Given the description of an element on the screen output the (x, y) to click on. 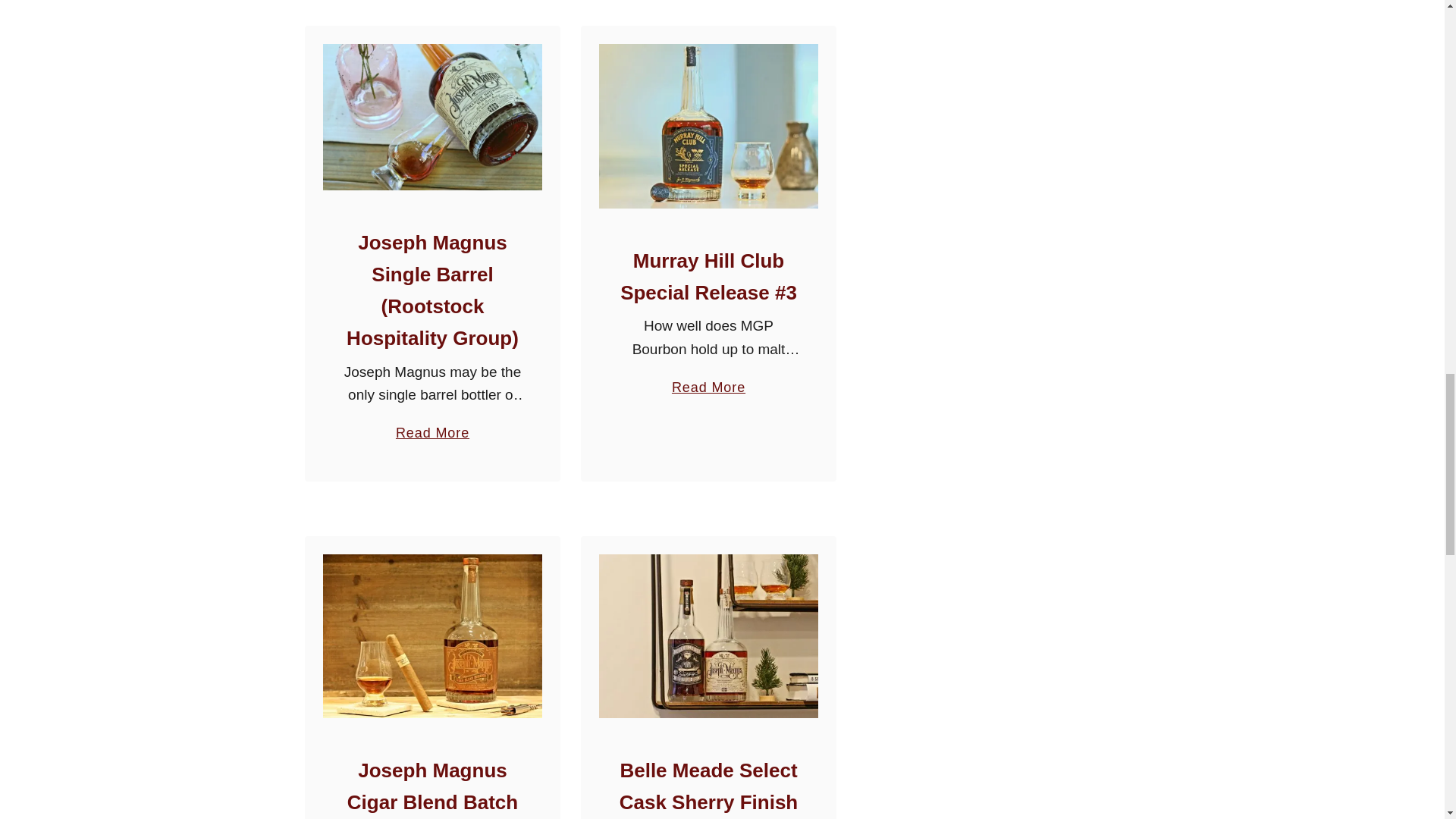
Joseph Magnus Cigar Blend Batch 13 Review (432, 636)
Joseph Magnus Cigar Blend Batch 13 Review (432, 789)
